Given the description of an element on the screen output the (x, y) to click on. 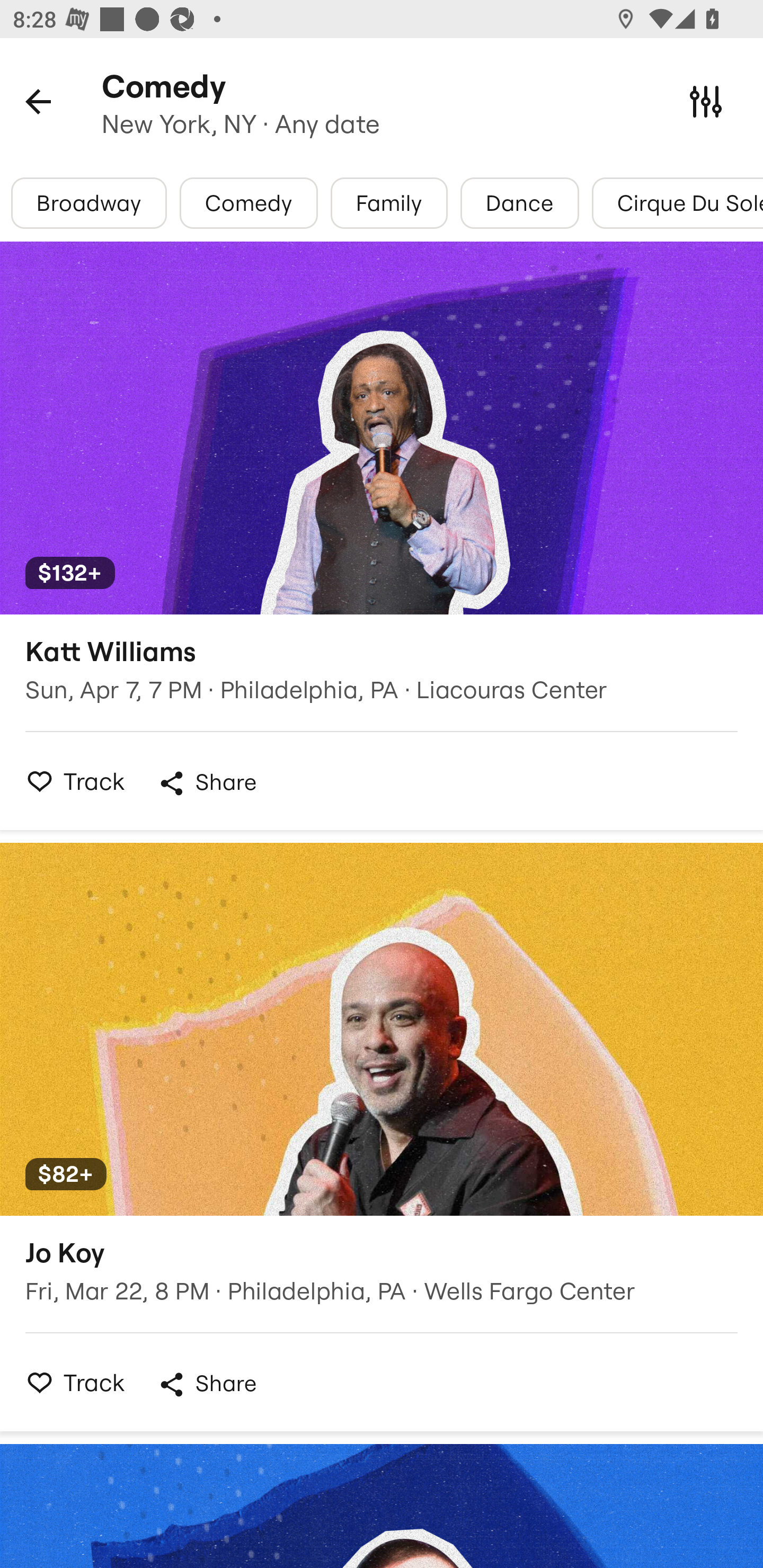
Back (38, 100)
Filters (705, 100)
Broadway (89, 202)
Comedy (248, 202)
Family (388, 202)
Dance (519, 202)
Cirque Du Soleil (677, 202)
Track (70, 780)
Share (207, 783)
Track (70, 1381)
Share (207, 1384)
